Given the description of an element on the screen output the (x, y) to click on. 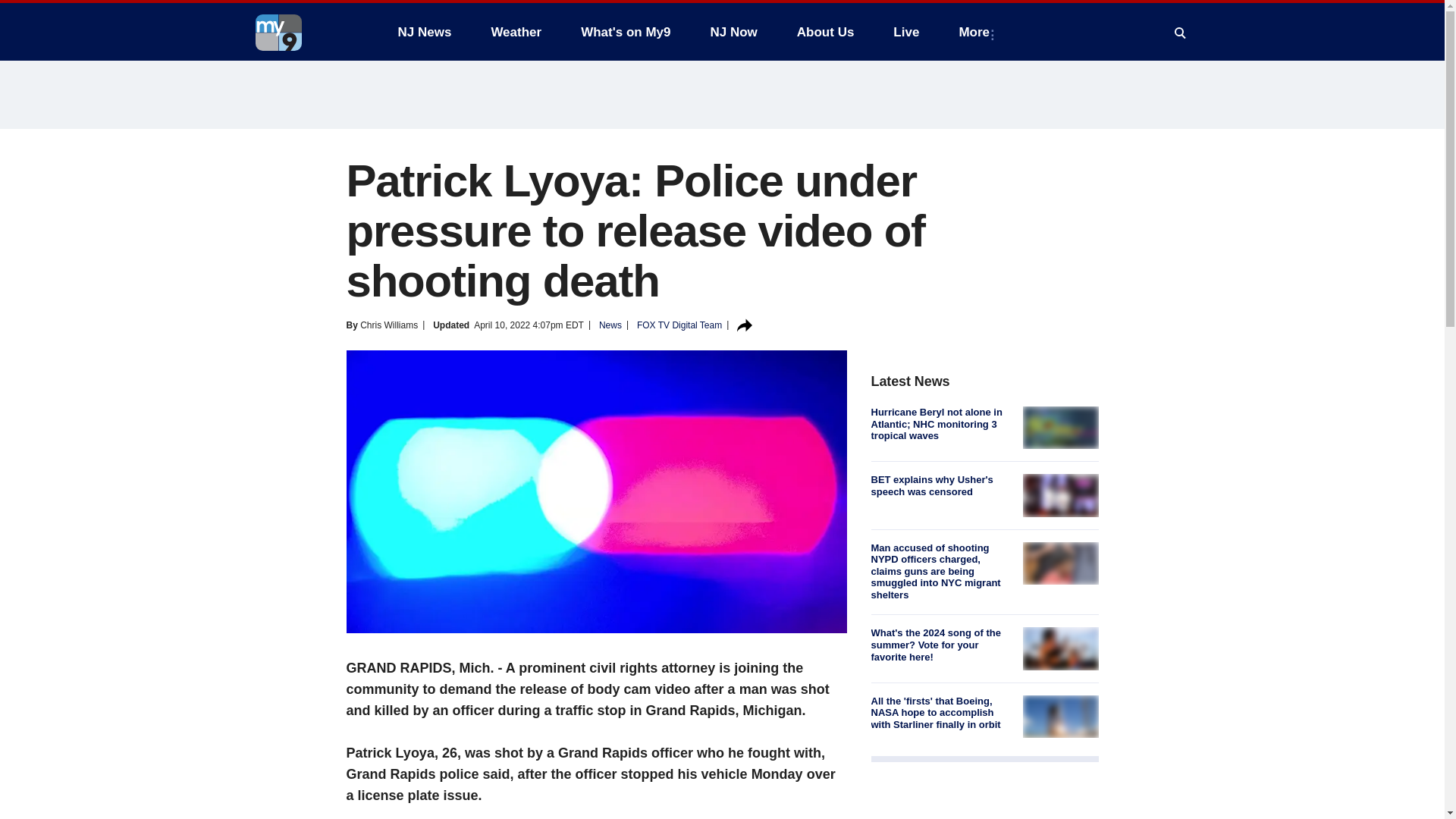
More (976, 32)
NJ News (424, 32)
Weather (516, 32)
What's on My9 (625, 32)
Live (905, 32)
NJ Now (732, 32)
FOX TV Digital Team (679, 325)
News (609, 325)
About Us (825, 32)
